Given the description of an element on the screen output the (x, y) to click on. 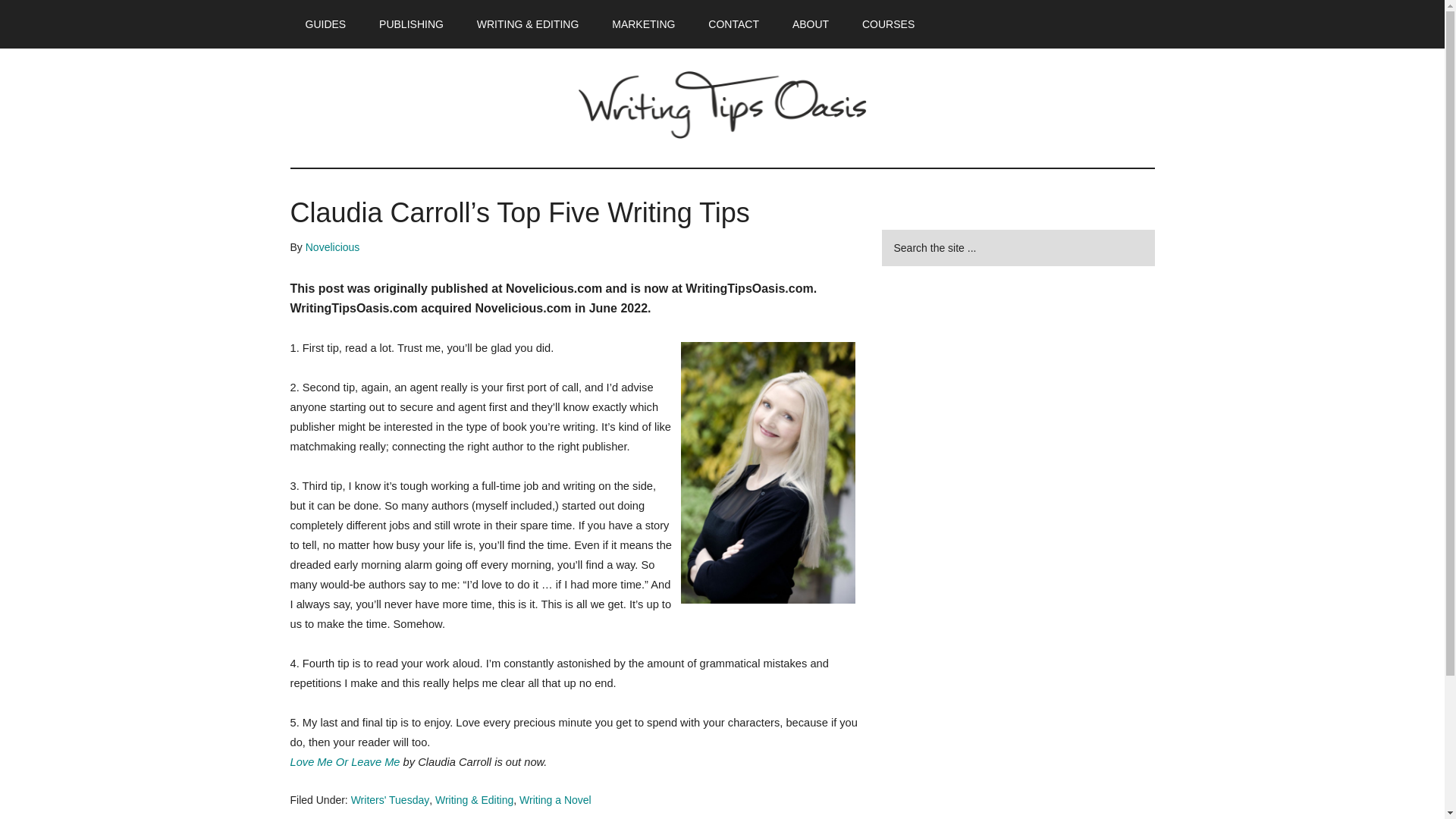
CONTACT (733, 24)
GUIDES (325, 24)
Novelicious (332, 246)
Writing a Novel (555, 799)
MARKETING (643, 24)
ABOUT (810, 24)
Writers' Tuesday (389, 799)
Love Me Or Leave Me by Claudia Carroll (343, 761)
COURSES (888, 24)
PUBLISHING (411, 24)
Love Me Or Leave Me (343, 761)
